Given the description of an element on the screen output the (x, y) to click on. 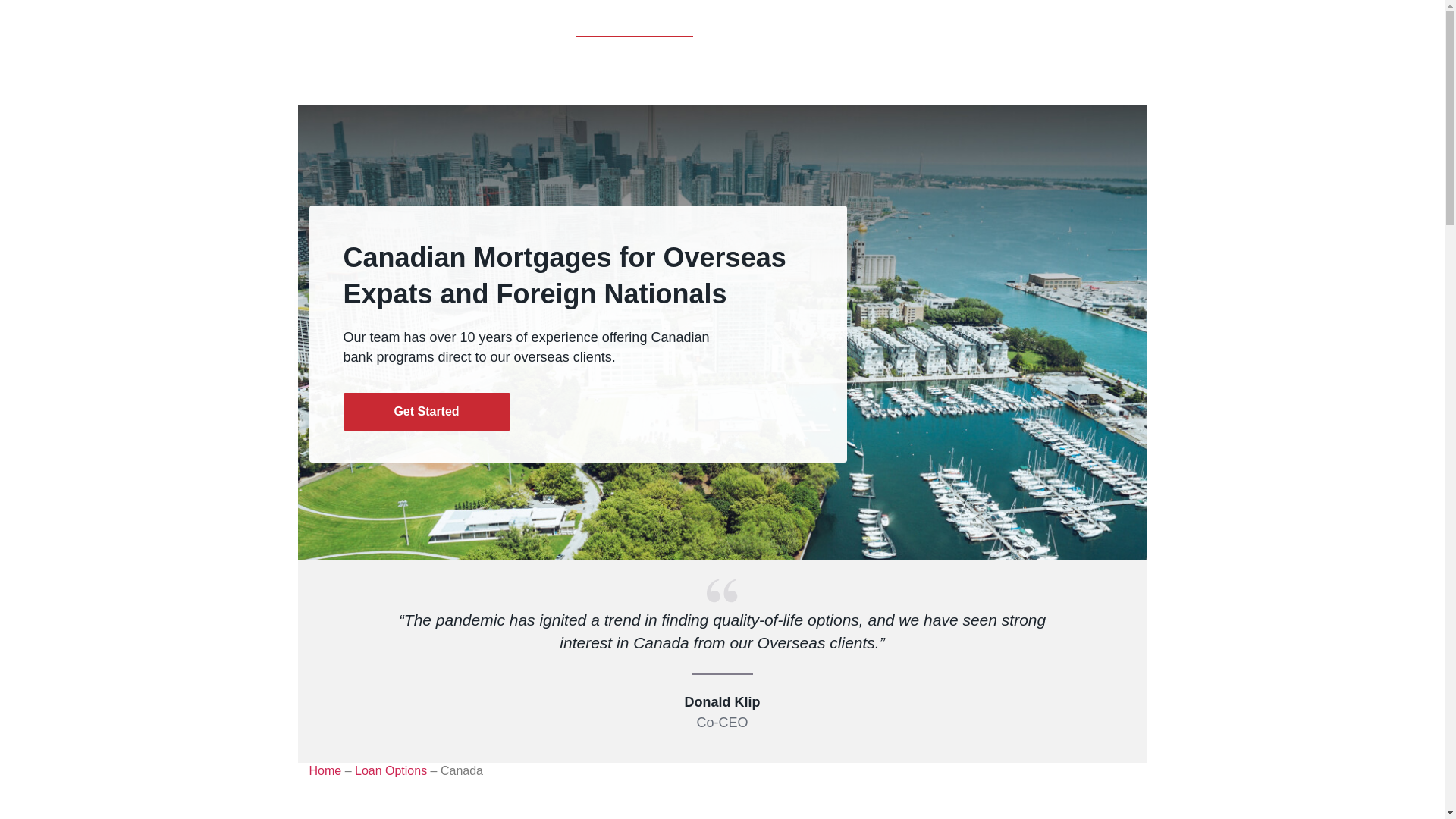
About Us (1017, 26)
HNW Solutions (897, 26)
Global Bridge (734, 26)
Contact Us (1153, 26)
Our Partners (1083, 26)
Singapore Bridge (813, 26)
International Mortgages (635, 26)
Our Partners (1083, 26)
Singapore Bridge (813, 26)
Global Bridge (734, 26)
HNW Solutions (897, 26)
About Us (1017, 26)
Resources (963, 26)
Resources (963, 26)
International Mortgages (635, 26)
